Given the description of an element on the screen output the (x, y) to click on. 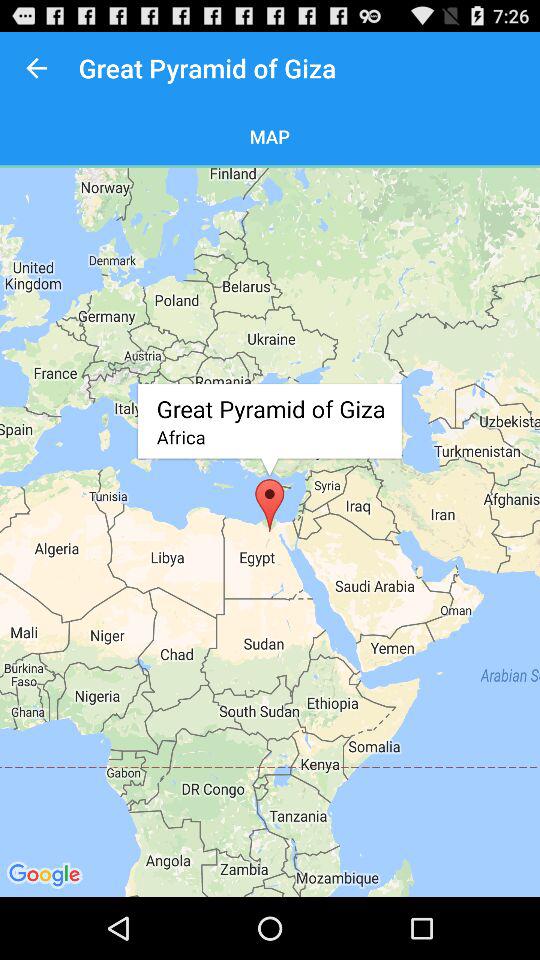
open the icon below map icon (270, 531)
